Given the description of an element on the screen output the (x, y) to click on. 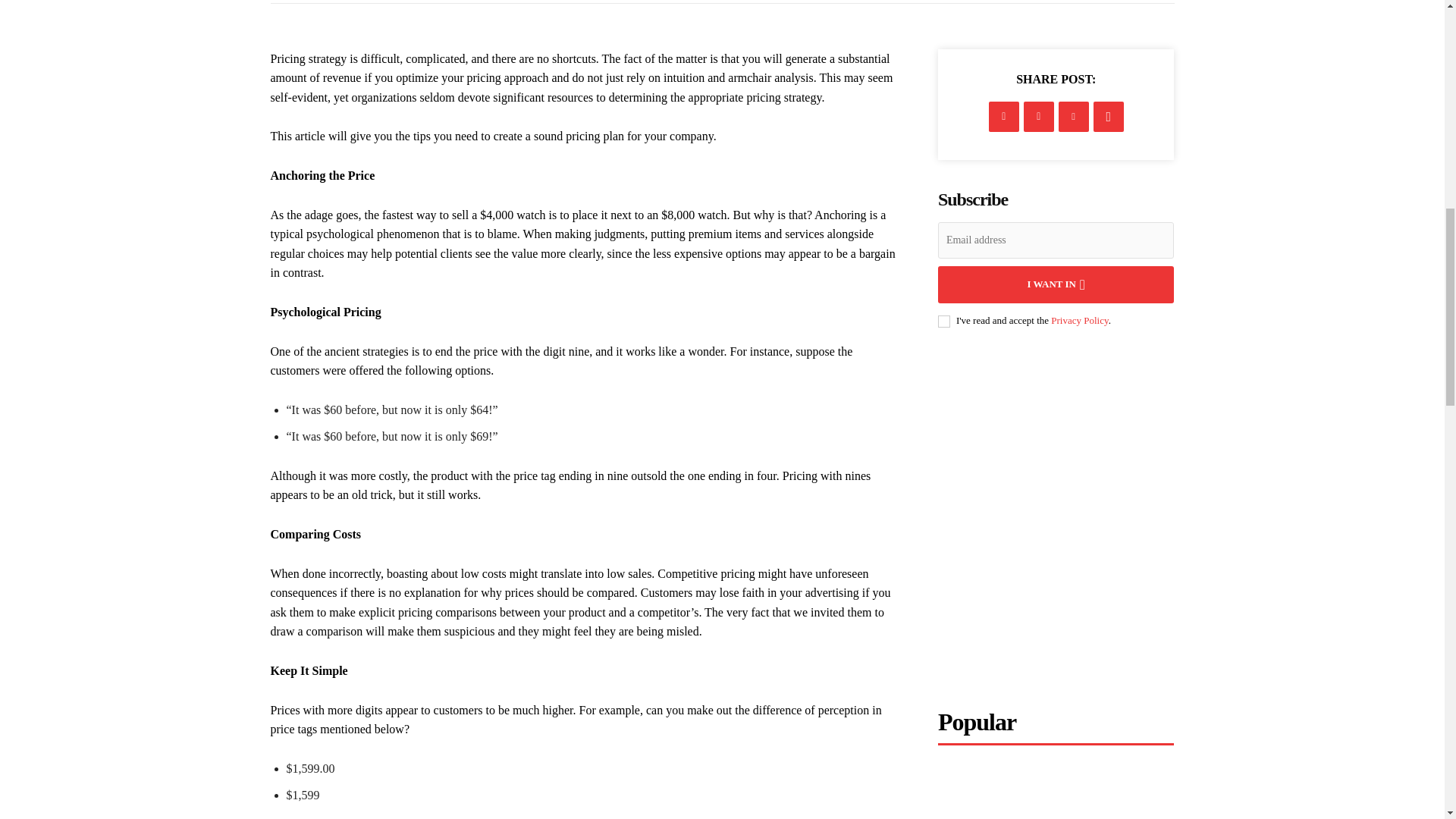
The Whole Manual for Making the Most of 855-649-4390 (1055, 791)
Pinterest (1073, 116)
Facebook (1003, 116)
Twitter (1038, 116)
WhatsApp (1108, 116)
